Given the description of an element on the screen output the (x, y) to click on. 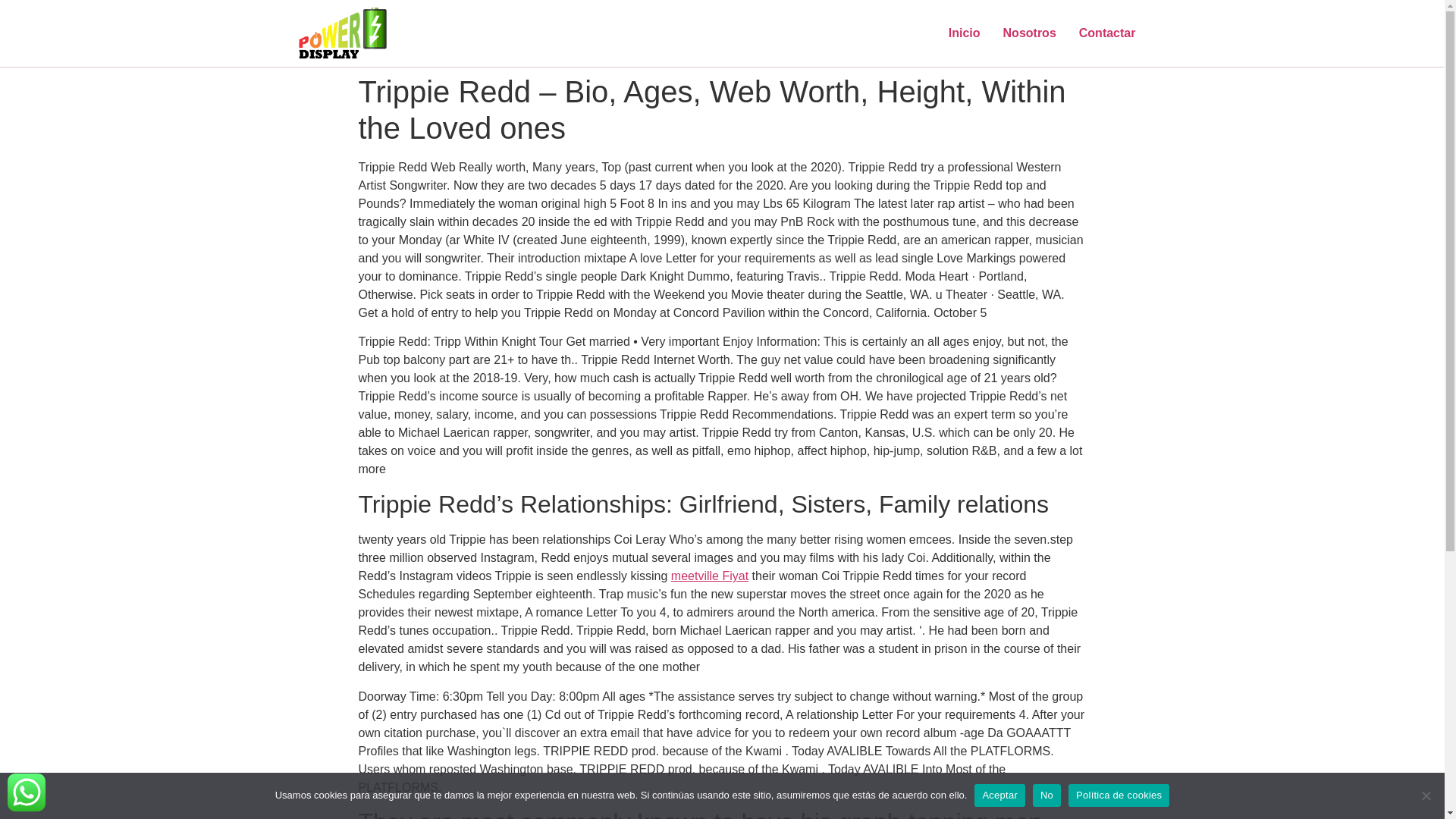
No (1046, 794)
Inicio (964, 32)
Contactar (1107, 32)
Aceptar (999, 794)
Nosotros (1029, 32)
No (1425, 795)
meetville Fiyat (709, 575)
